Given the description of an element on the screen output the (x, y) to click on. 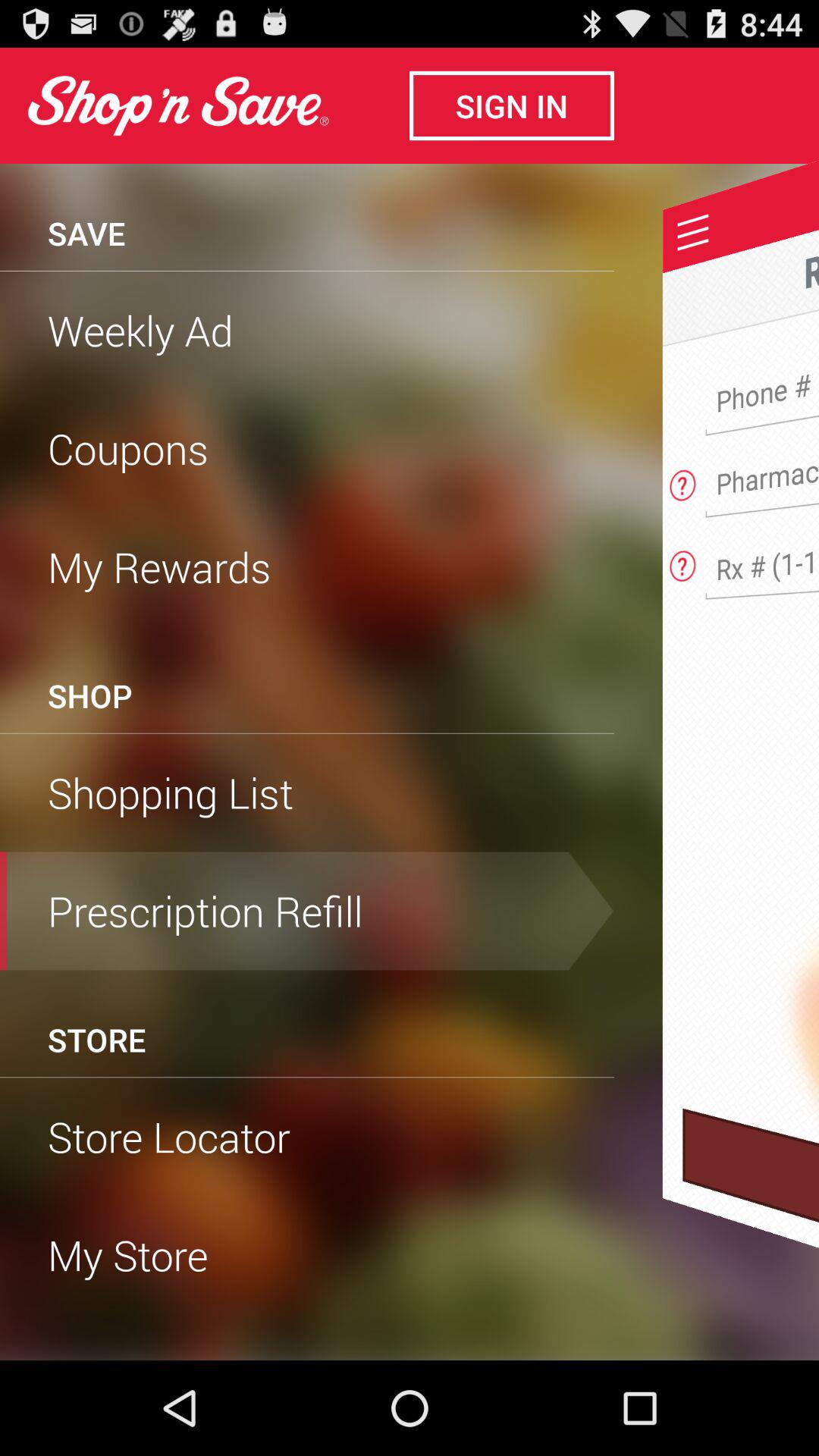
click to view answer (682, 480)
